Given the description of an element on the screen output the (x, y) to click on. 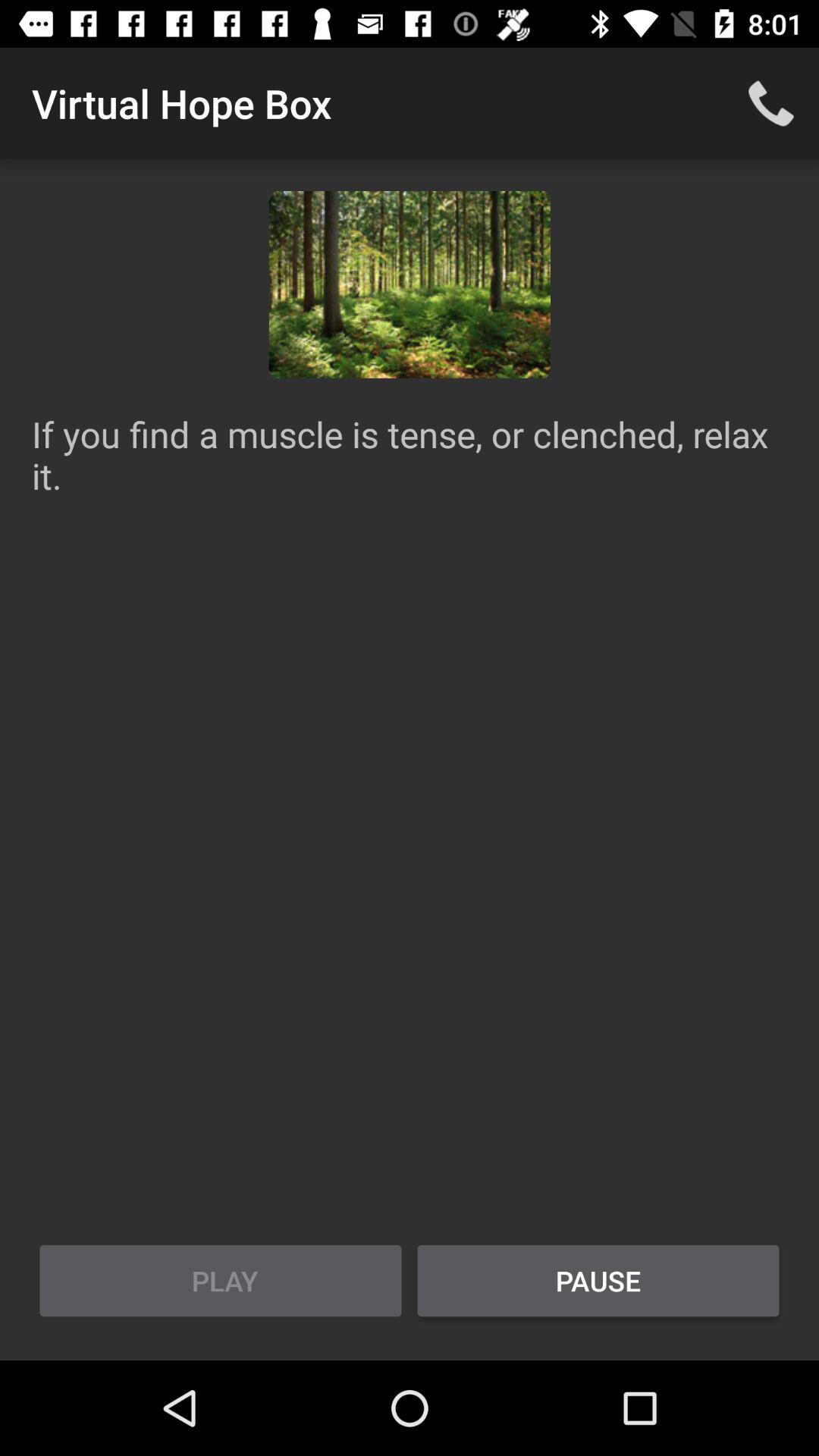
turn on the icon to the left of pause icon (220, 1280)
